Given the description of an element on the screen output the (x, y) to click on. 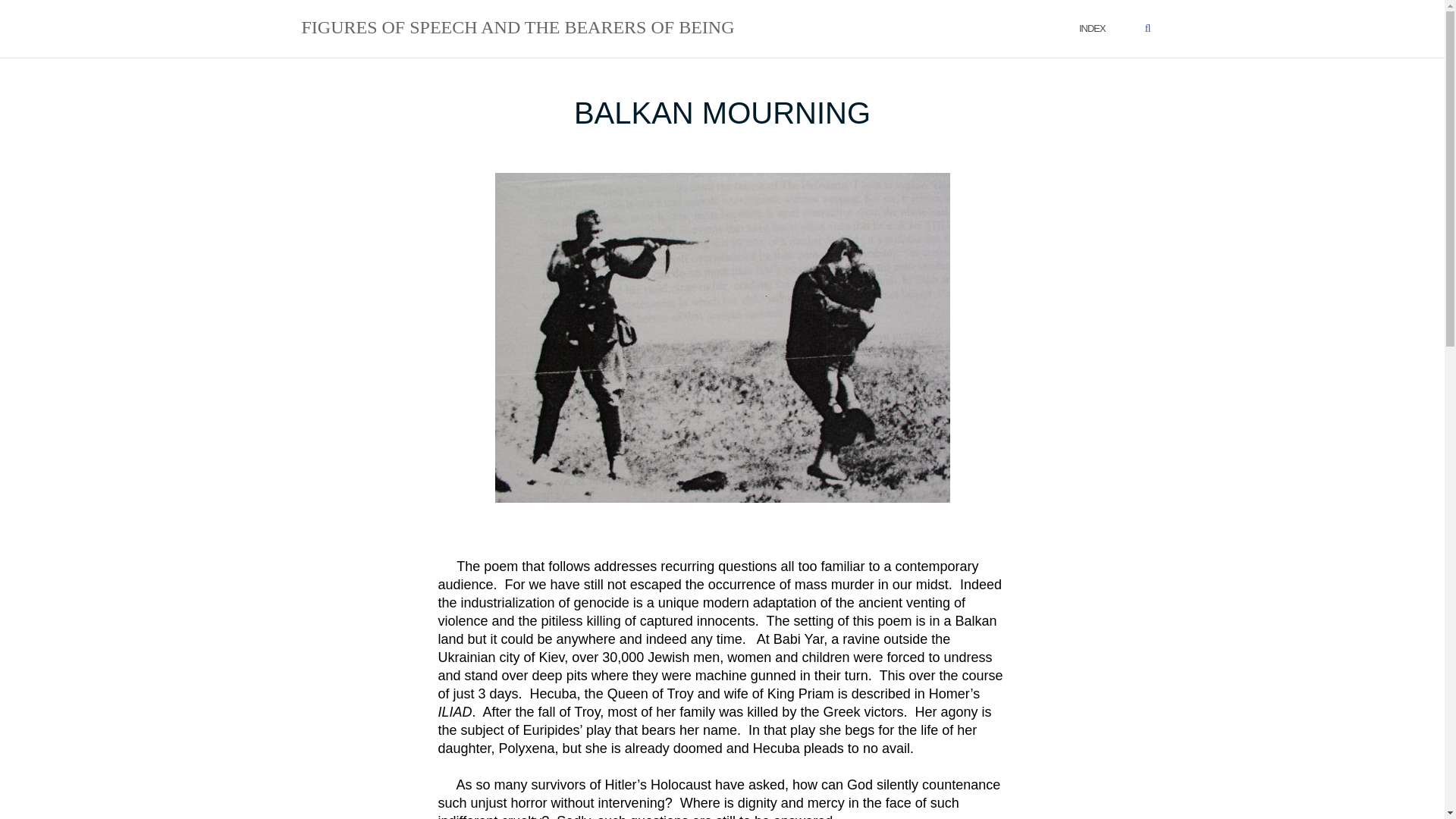
BALKAN MOURNING (721, 112)
FIGURES OF SPEECH AND THE BEARERS OF BEING (518, 28)
